Given the description of an element on the screen output the (x, y) to click on. 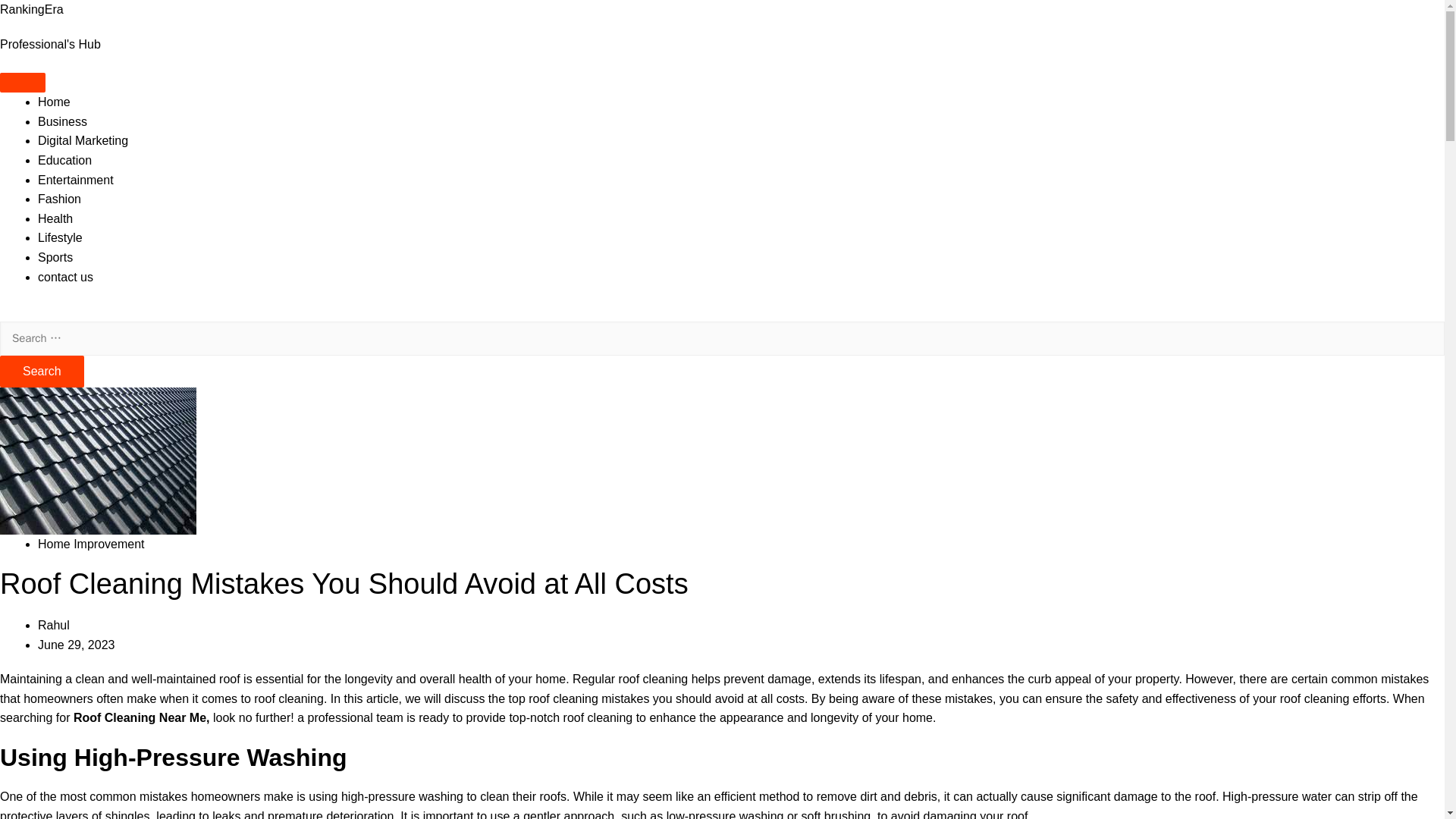
Search (42, 371)
Health (54, 218)
Rahul (53, 625)
Roof Cleaning Near Me (140, 717)
Fashion (59, 198)
Digital Marketing (82, 140)
Home (53, 101)
Business (62, 121)
Sports (54, 256)
Search (42, 371)
contact us (65, 277)
Search (42, 371)
Lifestyle (59, 237)
RankingEra (32, 9)
Entertainment (75, 179)
